Given the description of an element on the screen output the (x, y) to click on. 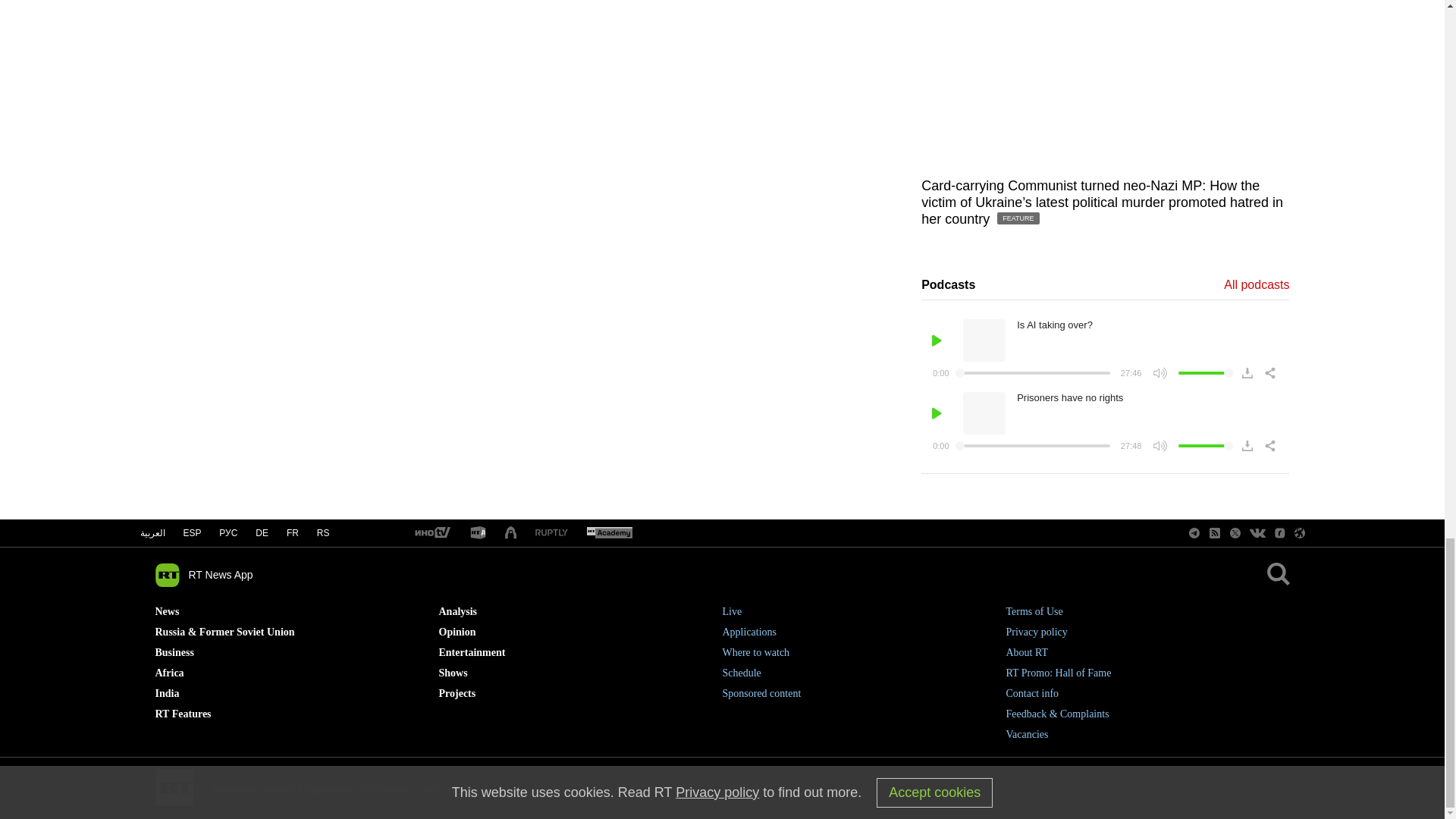
RT  (478, 533)
RT  (551, 533)
RT  (608, 533)
RT  (431, 533)
